Given the description of an element on the screen output the (x, y) to click on. 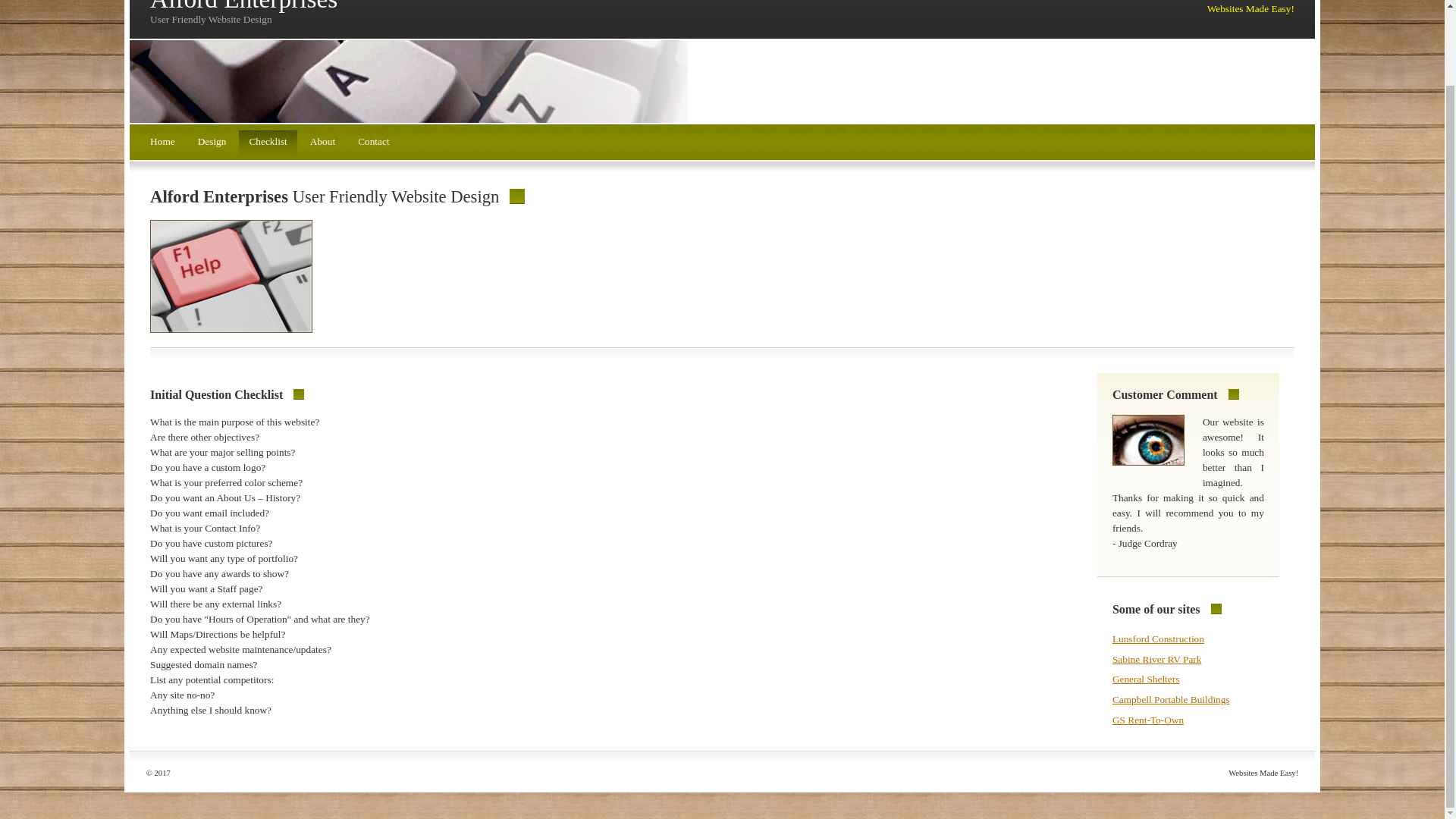
Sabine River RV Park (1157, 659)
General Shelters (1145, 678)
About (322, 143)
Lunsford Construction (1158, 638)
GS Rent-To-Own (1147, 719)
Checklist (267, 143)
Home (161, 143)
Contact (372, 143)
Campbell Portable Buildings (1171, 699)
Design (211, 143)
